Given the description of an element on the screen output the (x, y) to click on. 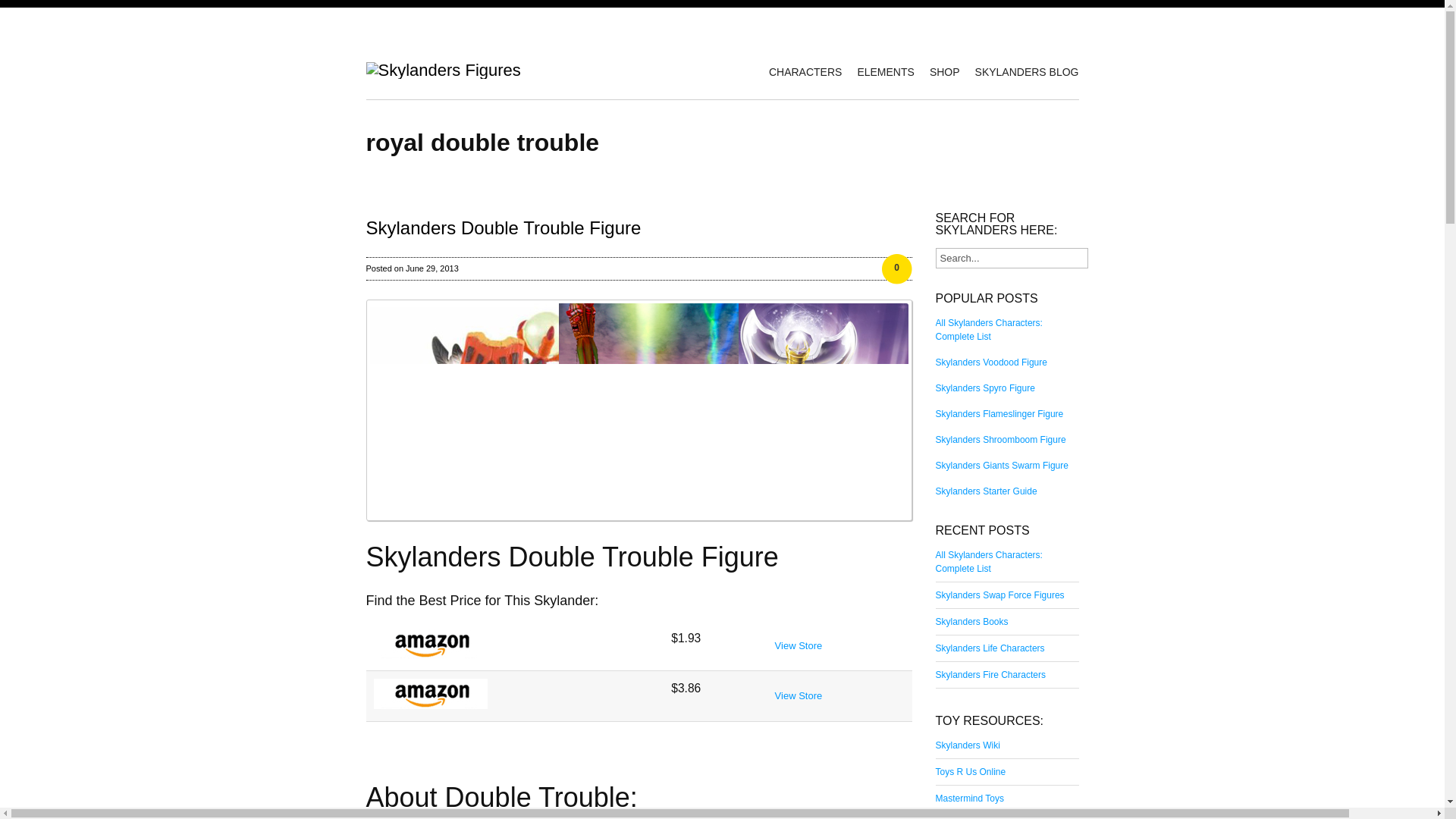
Skylanders Figures (442, 69)
Search (21, 7)
ELEMENTS (877, 71)
Skylanders Double Trouble Figure (502, 227)
Skylanders Voodood Figure (991, 361)
Search... (1011, 258)
View Store (798, 645)
View Store (798, 695)
CHARACTERS (797, 71)
Skylanders Double Trouble Figure (638, 409)
SKYLANDERS BLOG (1018, 71)
All Skylanders Characters: Complete List (989, 328)
Skylanders Double Trouble Figure (638, 557)
SHOP (936, 71)
Search... (1011, 258)
